Given the description of an element on the screen output the (x, y) to click on. 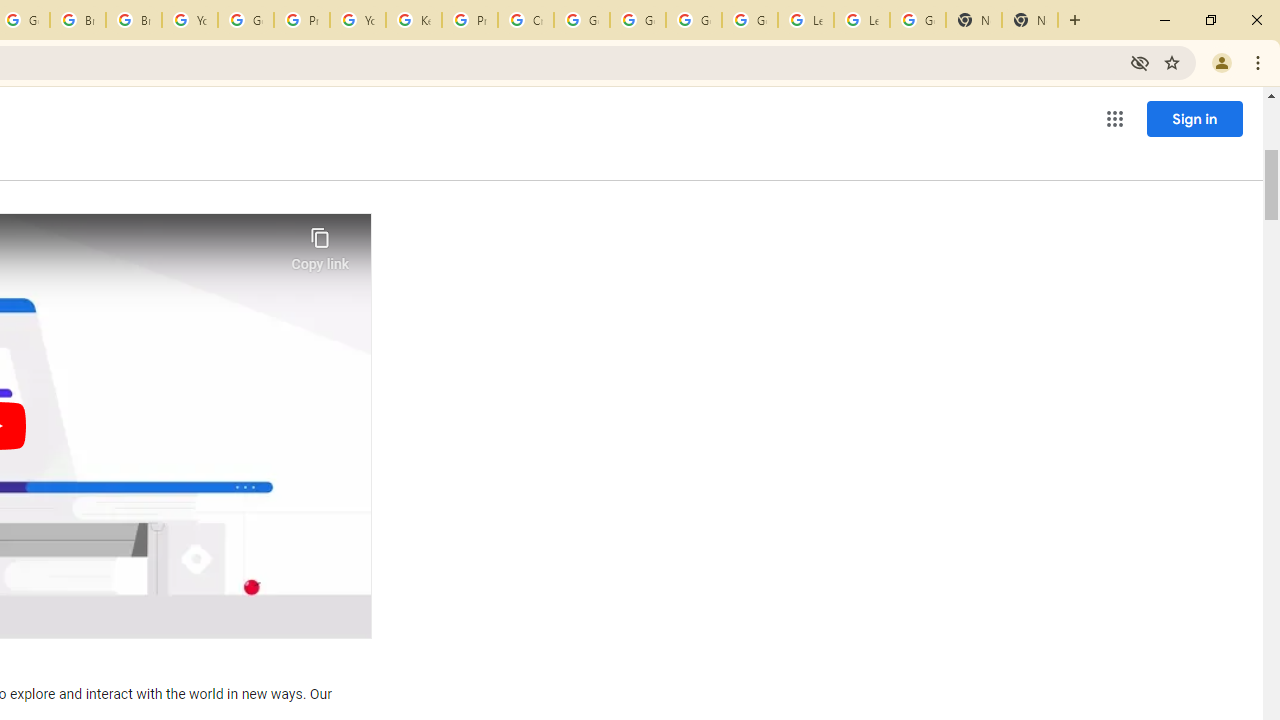
Google Account Help (749, 20)
YouTube (358, 20)
Google Account (917, 20)
Google Account Help (245, 20)
New Tab (973, 20)
